Given the description of an element on the screen output the (x, y) to click on. 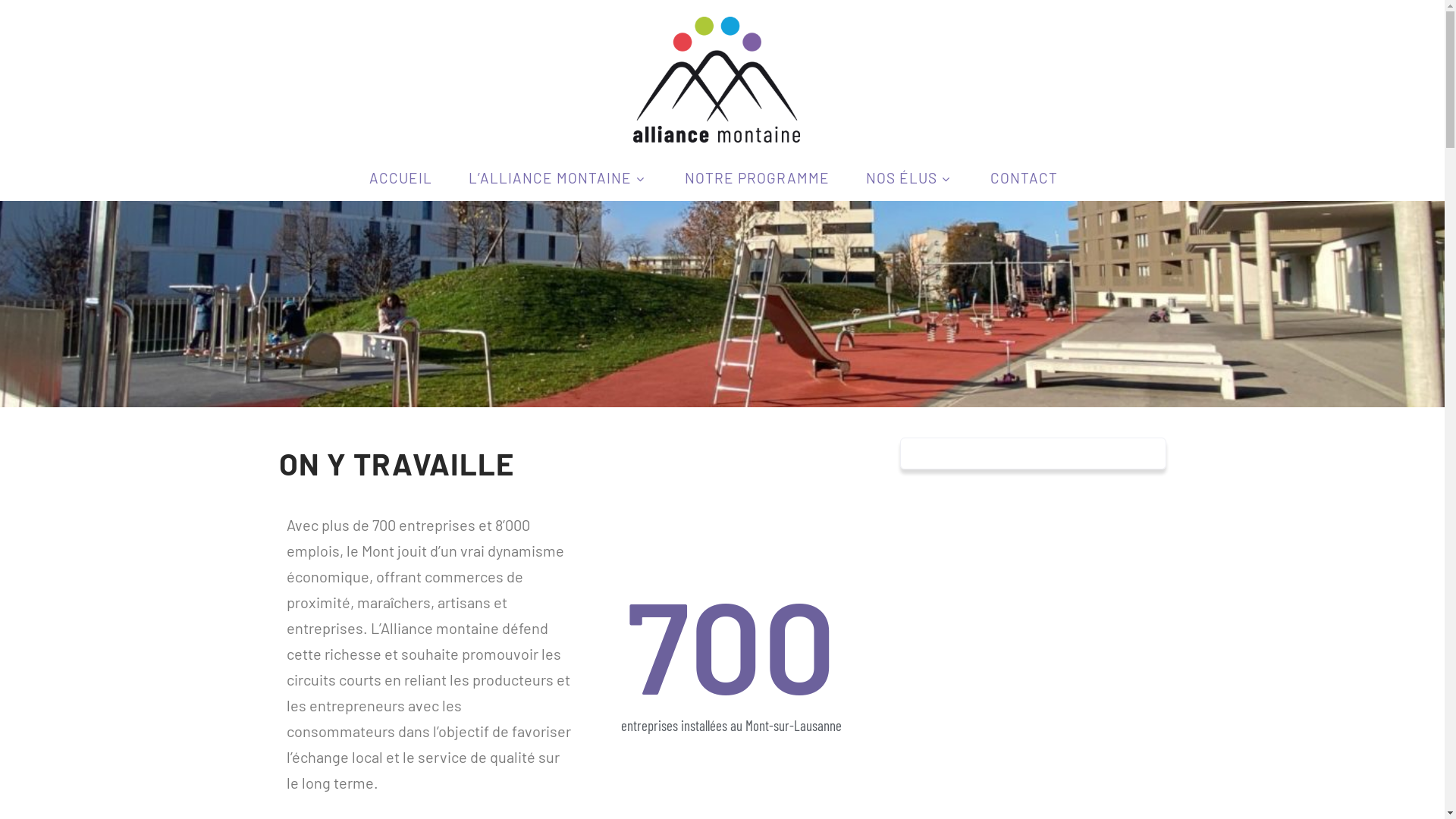
CONTACT Element type: text (1023, 177)
NOTRE PROGRAMME Element type: text (756, 177)
ACCUEIL Element type: text (399, 177)
Alliance montaine Element type: hover (716, 141)
